Given the description of an element on the screen output the (x, y) to click on. 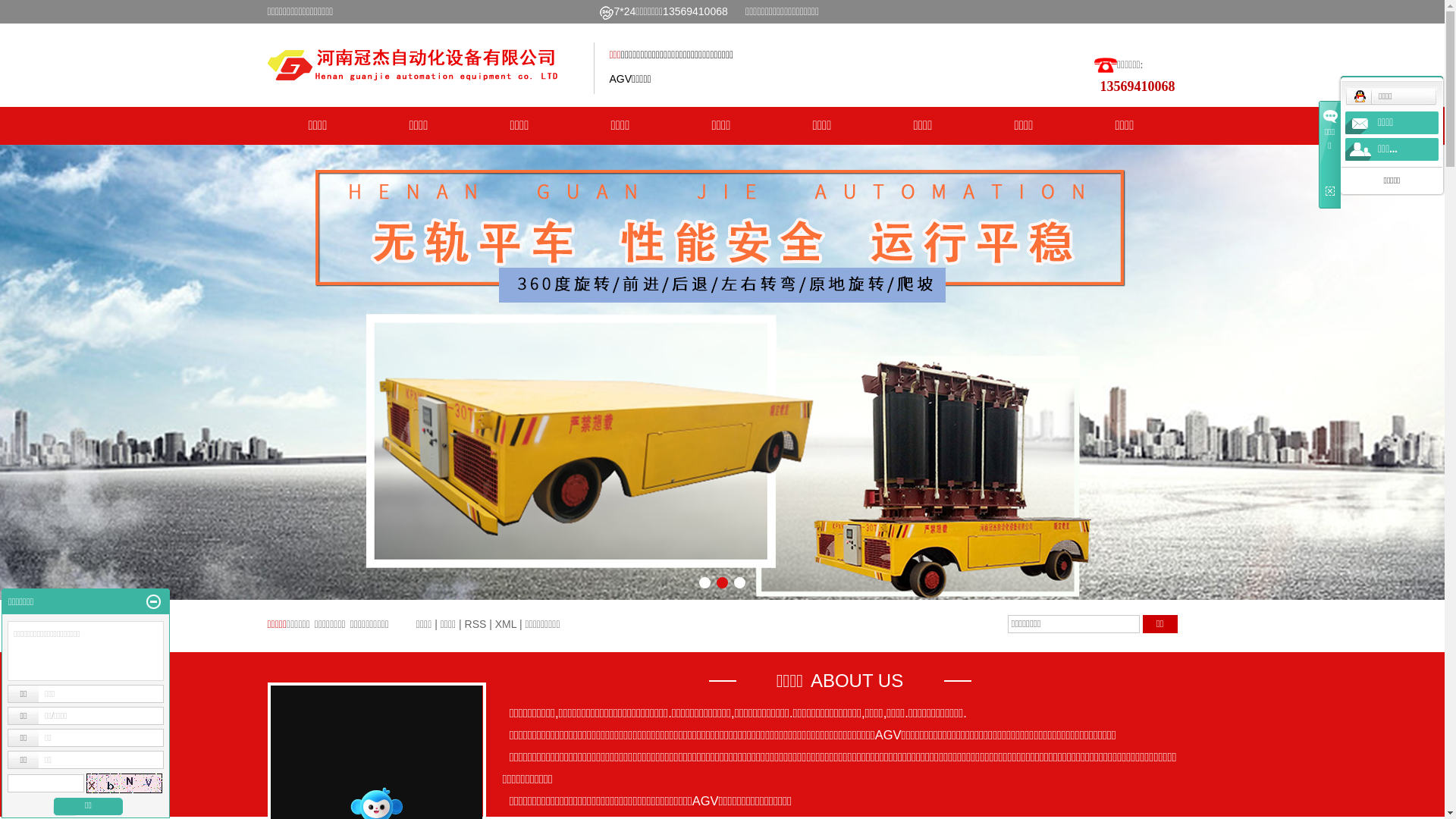
RSS Element type: text (475, 624)
2 Element type: text (723, 583)
3 Element type: text (740, 583)
1512612659910423.png Element type: hover (1105, 64)
XML Element type: text (505, 624)
1 Element type: text (705, 583)
1615356505619132.png Element type: hover (606, 12)
